Given the description of an element on the screen output the (x, y) to click on. 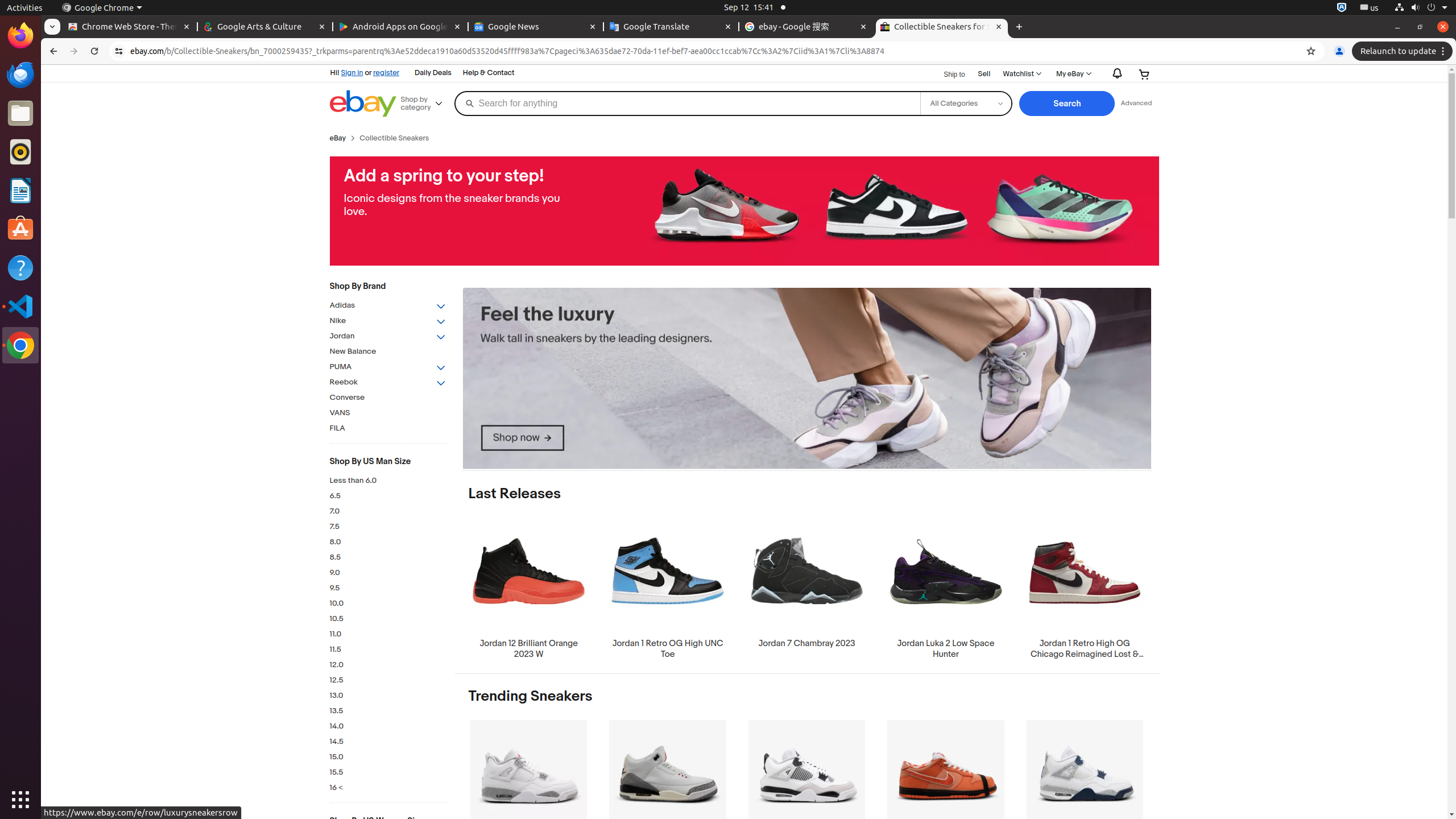
Jordan Element type: push-button (387, 336)
6.5 Element type: link (387, 495)
Collectible Sneakers for Sale - Authenticity Guaranteed - eBay Element type: page-tab (941, 26)
Ship to Element type: push-button (947, 74)
Firefox Web Browser Element type: push-button (20, 35)
